Given the description of an element on the screen output the (x, y) to click on. 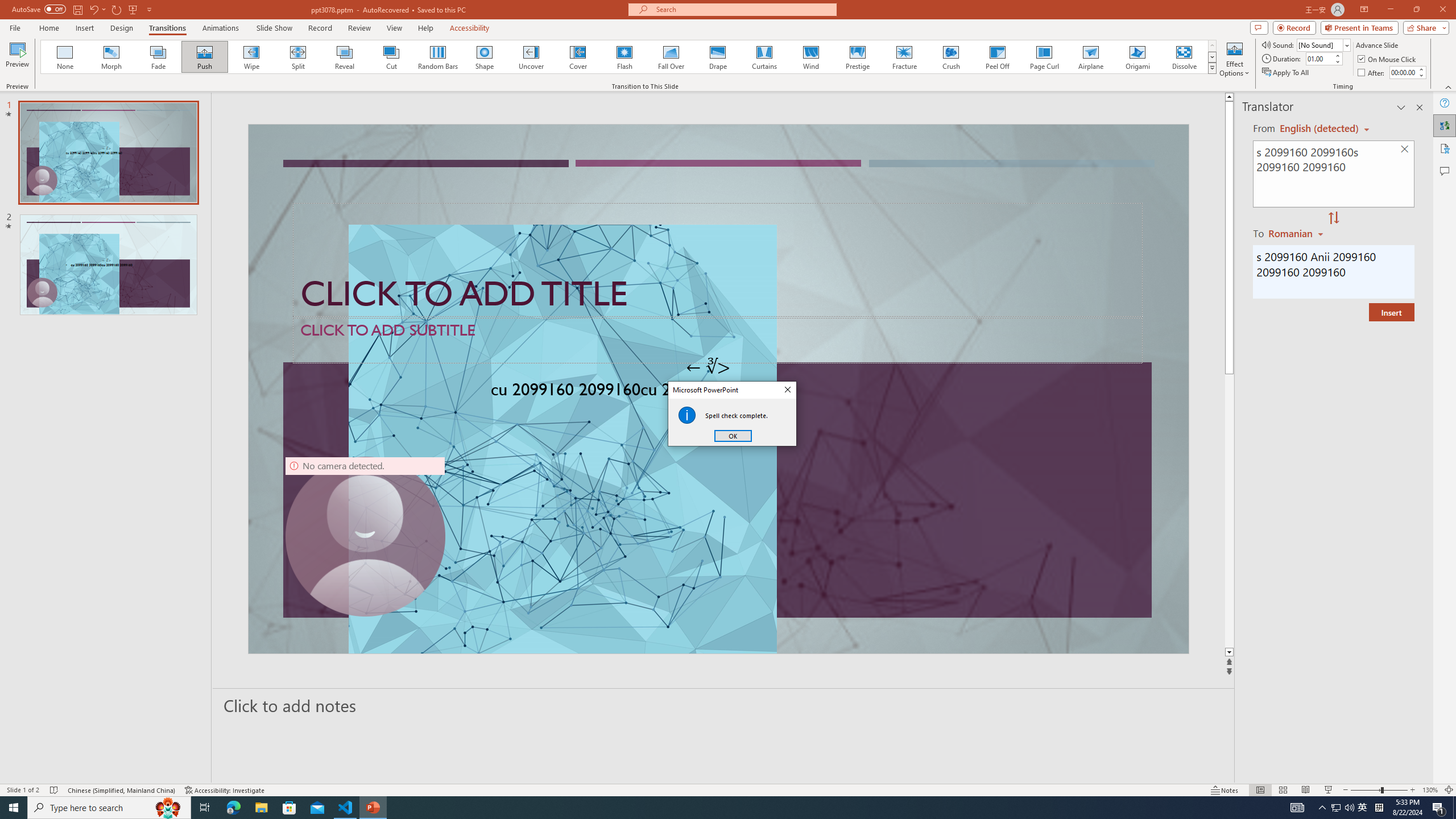
Airplane (1090, 56)
Wind (810, 56)
Dissolve (1183, 56)
Camera 9, No camera detected. (364, 536)
